Given the description of an element on the screen output the (x, y) to click on. 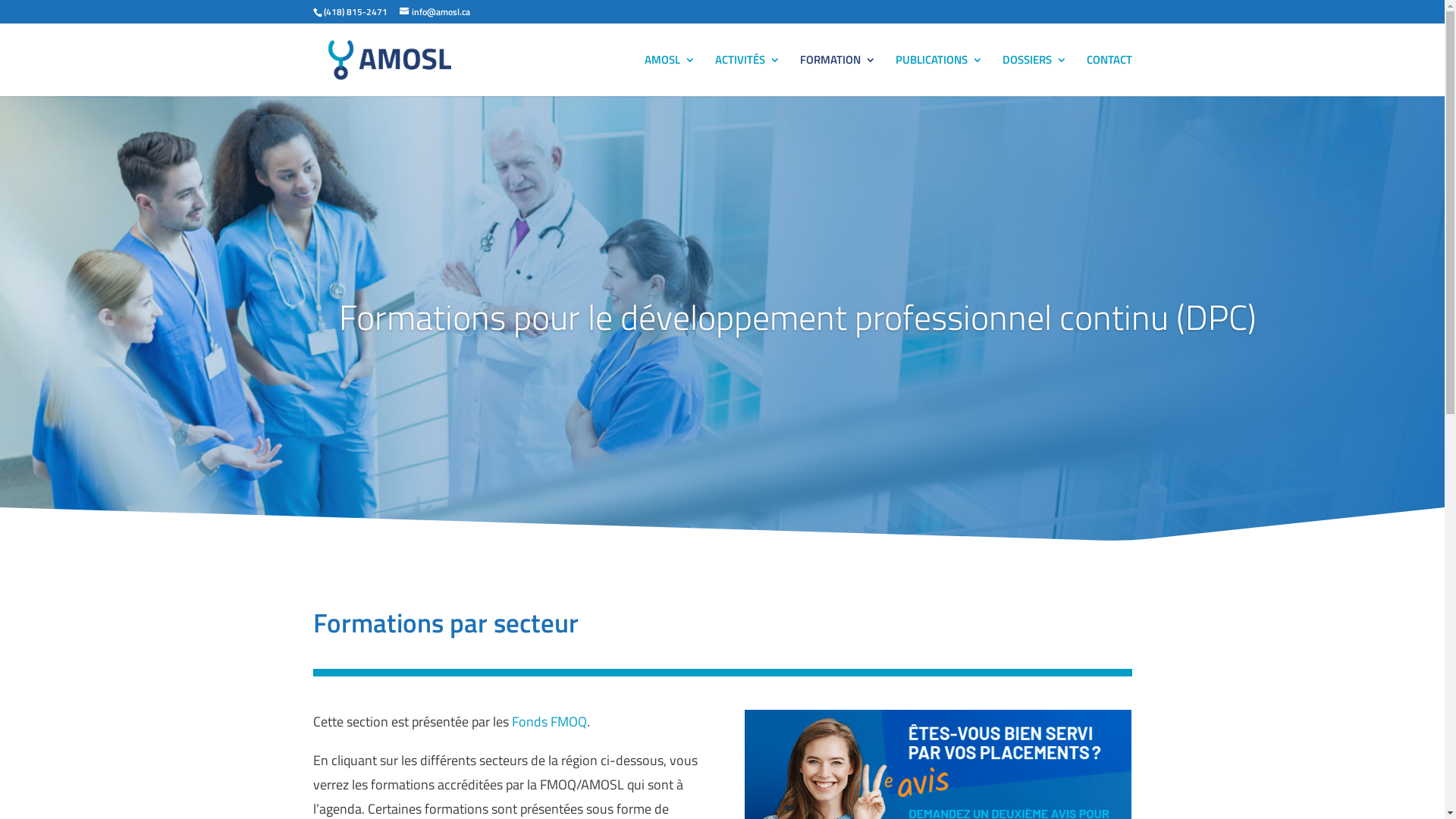
AMOSL Element type: text (669, 75)
CONTACT Element type: text (1108, 75)
info@amosl.ca Element type: text (433, 11)
PUBLICATIONS Element type: text (938, 75)
Fonds FMOQ Element type: text (548, 721)
DOSSIERS Element type: text (1034, 75)
FORMATION Element type: text (837, 75)
